Given the description of an element on the screen output the (x, y) to click on. 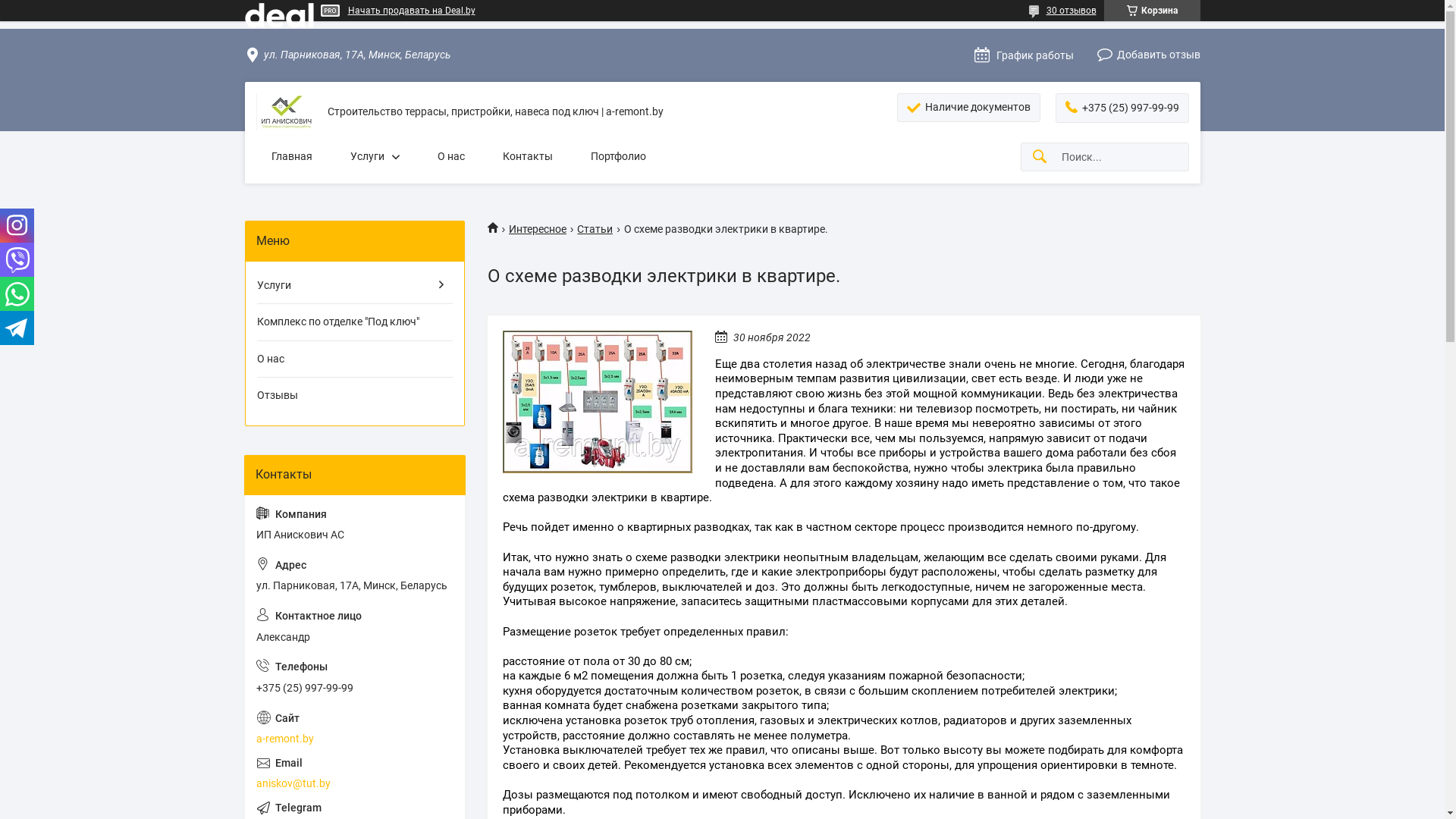
aniskov@tut.by Element type: text (354, 773)
a-remont.by Element type: text (354, 727)
